Given the description of an element on the screen output the (x, y) to click on. 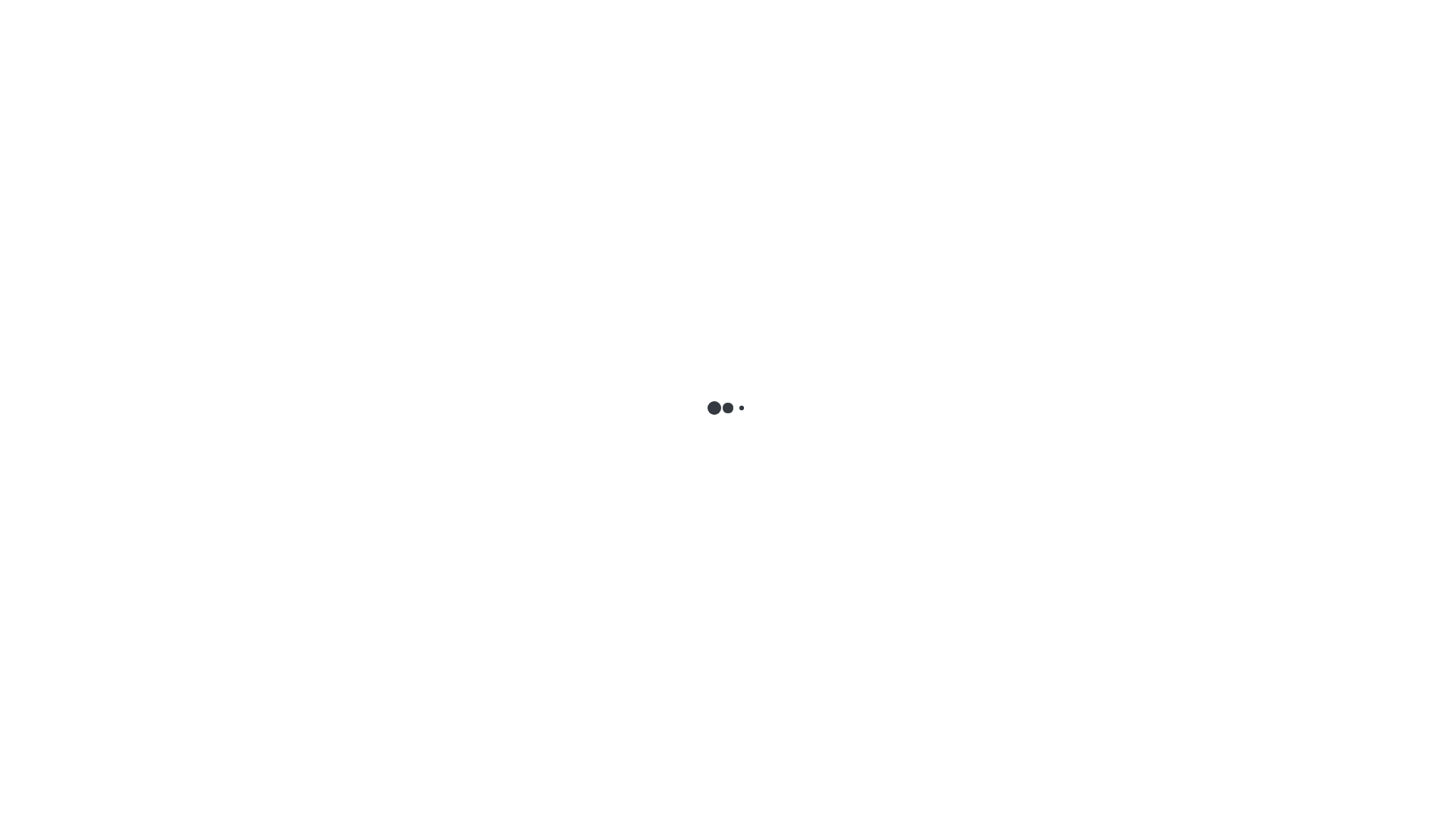
$ USD (US Dollar) Element type: text (43, 228)
Russian Element type: text (32, 67)
Demo Element type: text (1363, 28)
English Element type: text (20, 141)
Demo2 Element type: text (1399, 28)
